Given the description of an element on the screen output the (x, y) to click on. 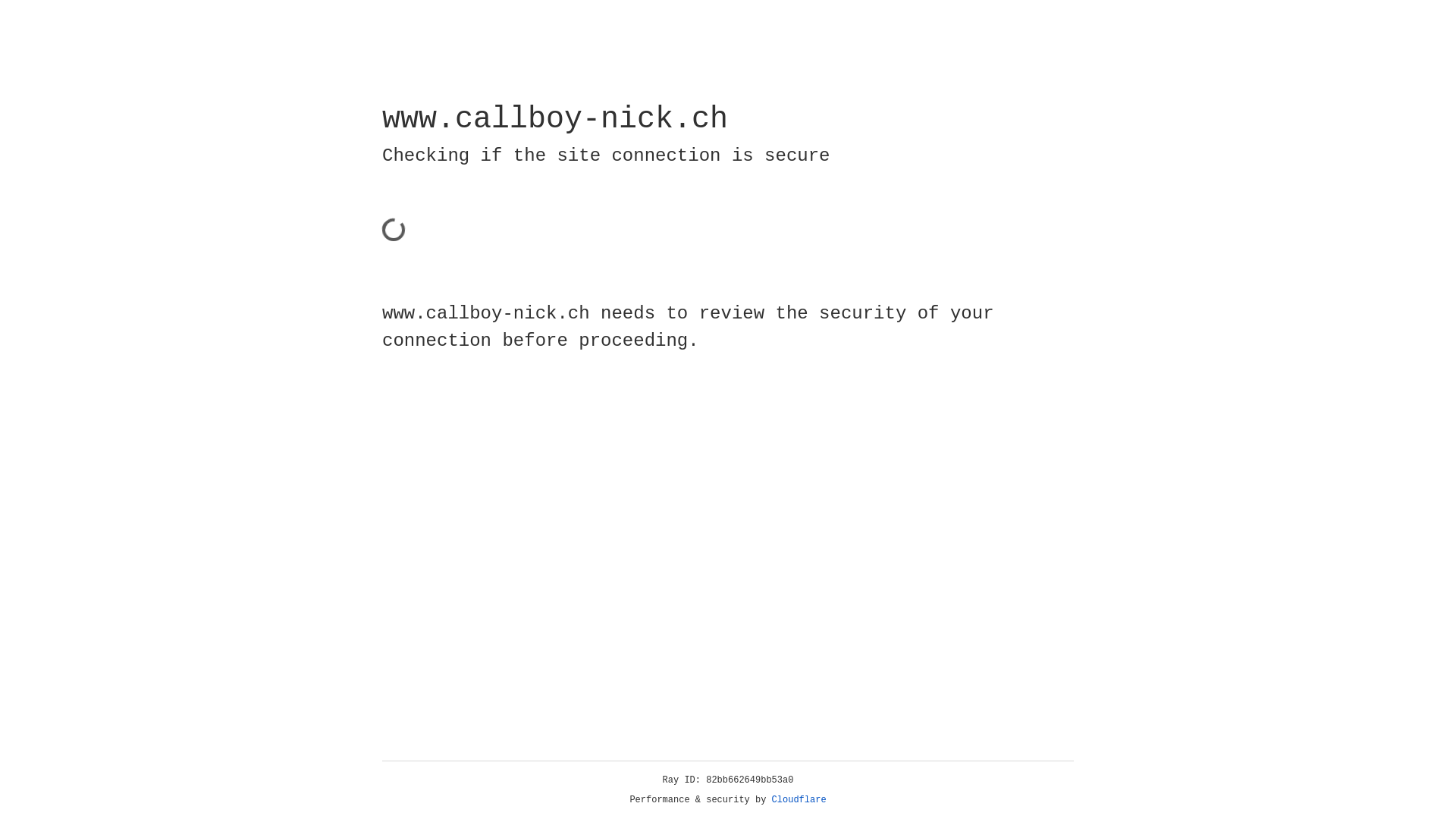
Cloudflare Element type: text (798, 799)
